Given the description of an element on the screen output the (x, y) to click on. 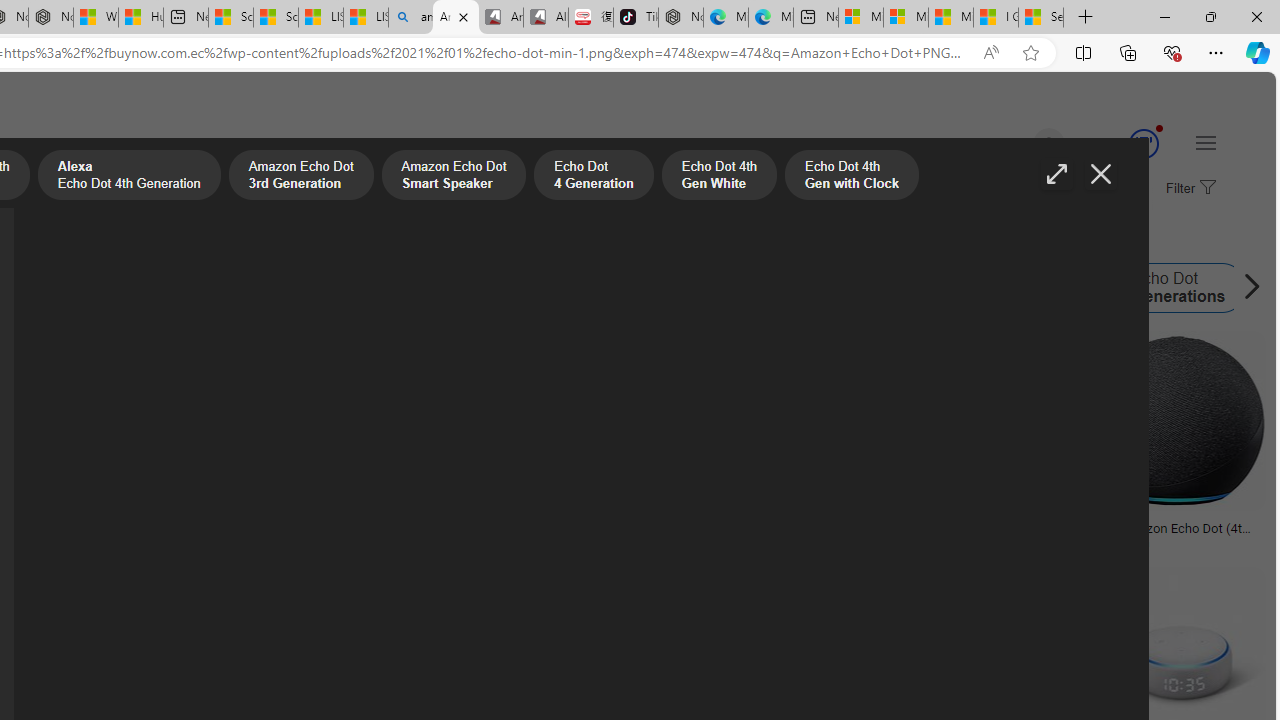
Amazon Echo Dot 3 (968, 287)
Class: outer-circle-animation (1143, 143)
Amazon Echo Dot 4th Gen (102, 287)
croma.com (1128, 541)
Echo Dot Generations (1103, 287)
Amazon Echo Dot 4th Gen (179, 287)
Class: medal-svg-animation (1143, 143)
Microsoft Rewards 147 (1119, 143)
